Given the description of an element on the screen output the (x, y) to click on. 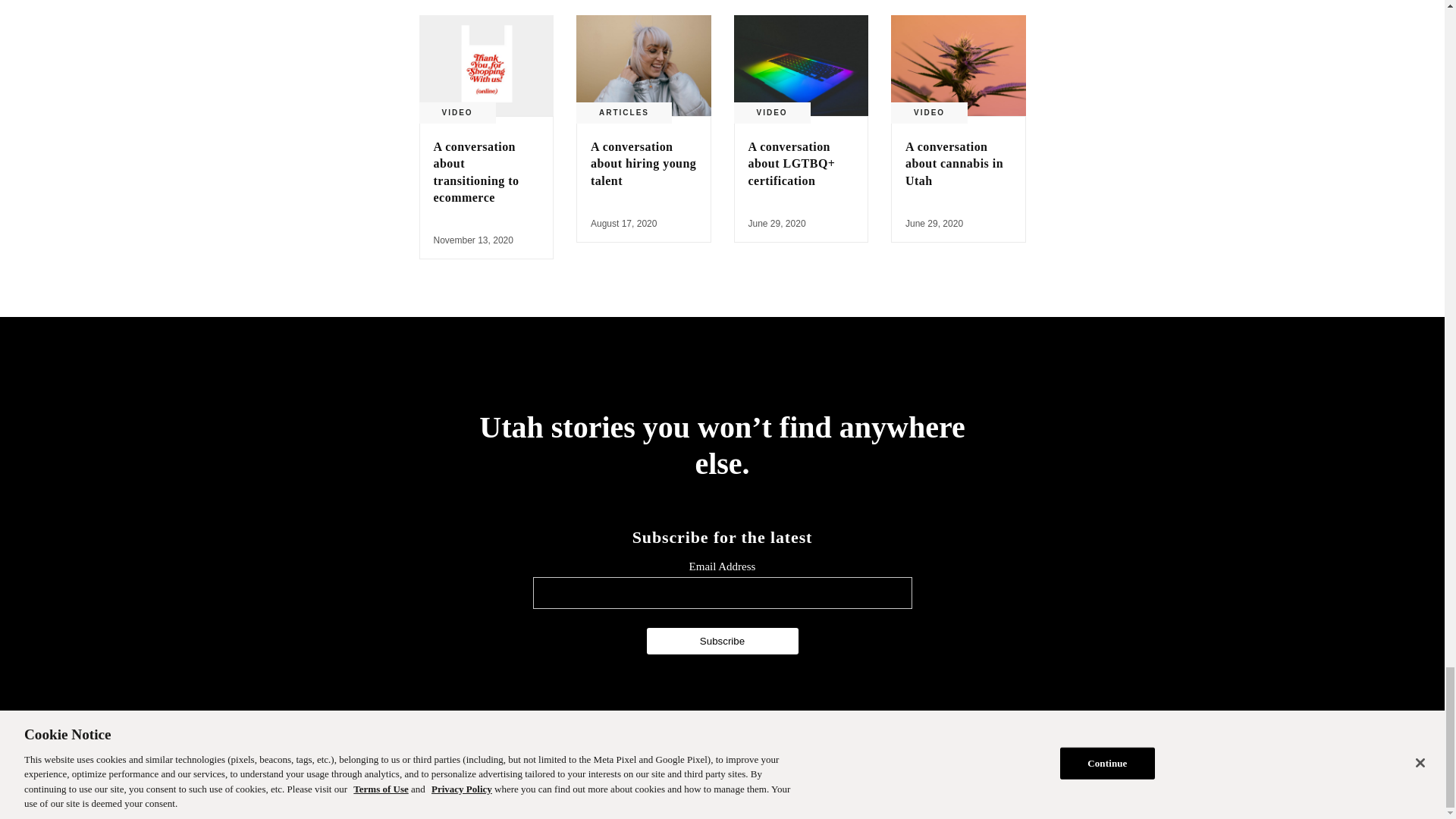
A conversation about transitioning to ecommerce (486, 65)
A conversation about hiring young talent (643, 65)
Subscribe (721, 641)
VIDEO (456, 112)
A conversation about hiring young talent (643, 163)
A conversation about cannabis in Utah (958, 65)
A conversation about transitioning to ecommerce (476, 171)
A conversation about cannabis in Utah (954, 163)
